Given the description of an element on the screen output the (x, y) to click on. 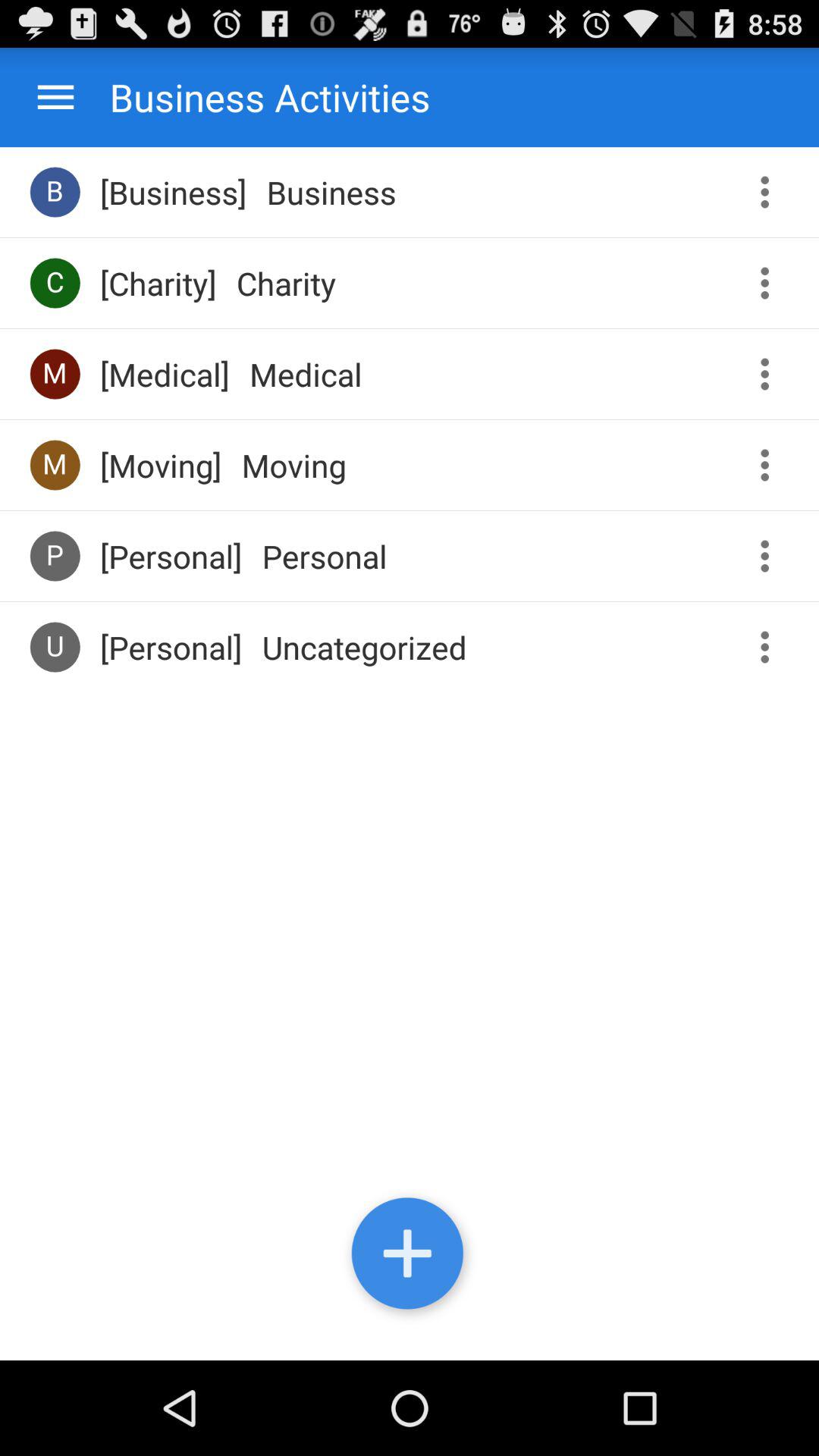
turn off the app next to the business activities item (55, 97)
